Given the description of an element on the screen output the (x, y) to click on. 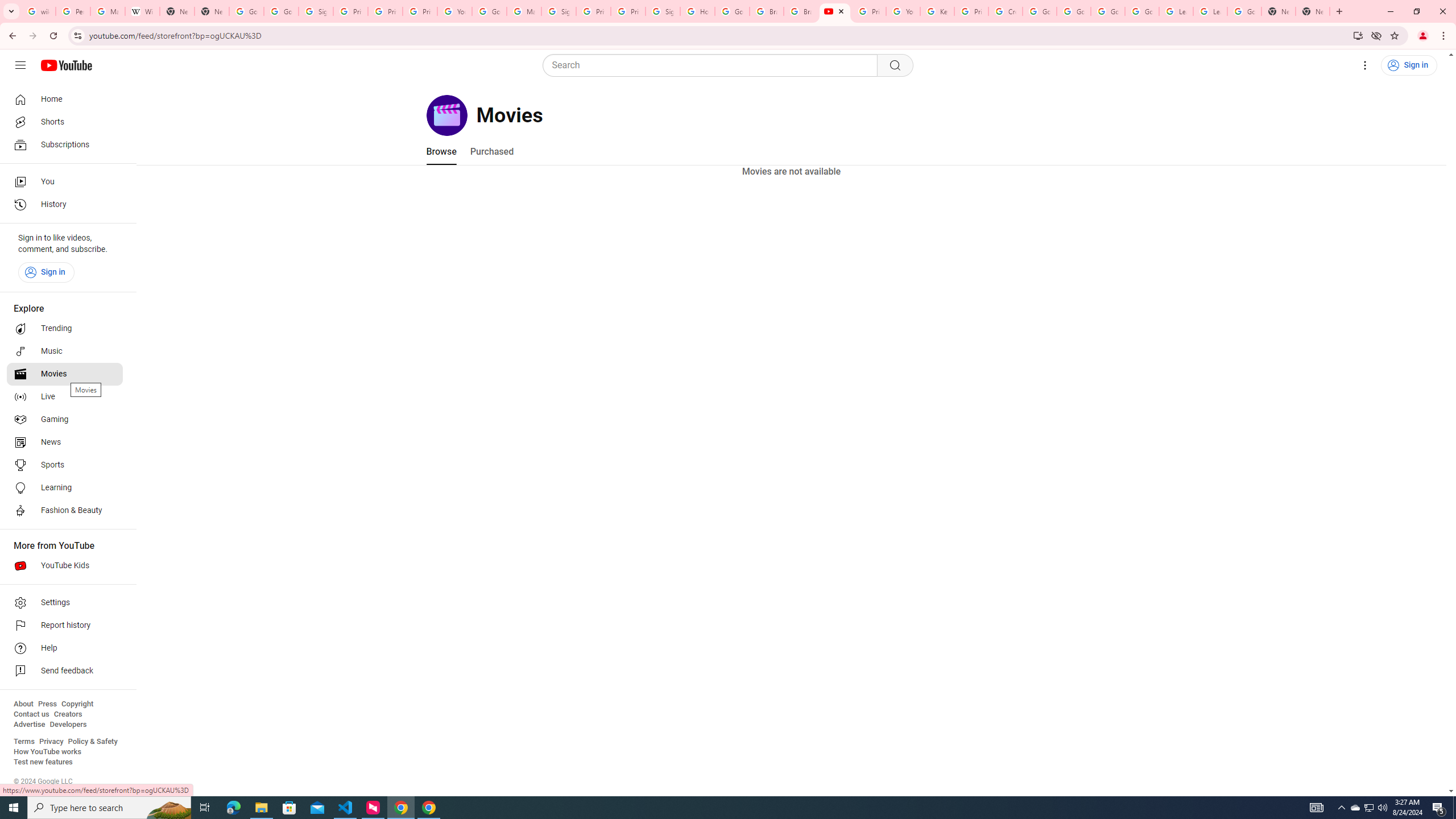
Purchased (491, 151)
Manage your Location History - Google Search Help (107, 11)
About (23, 703)
Press (46, 703)
Google Account (1243, 11)
Subscriptions (64, 144)
